Given the description of an element on the screen output the (x, y) to click on. 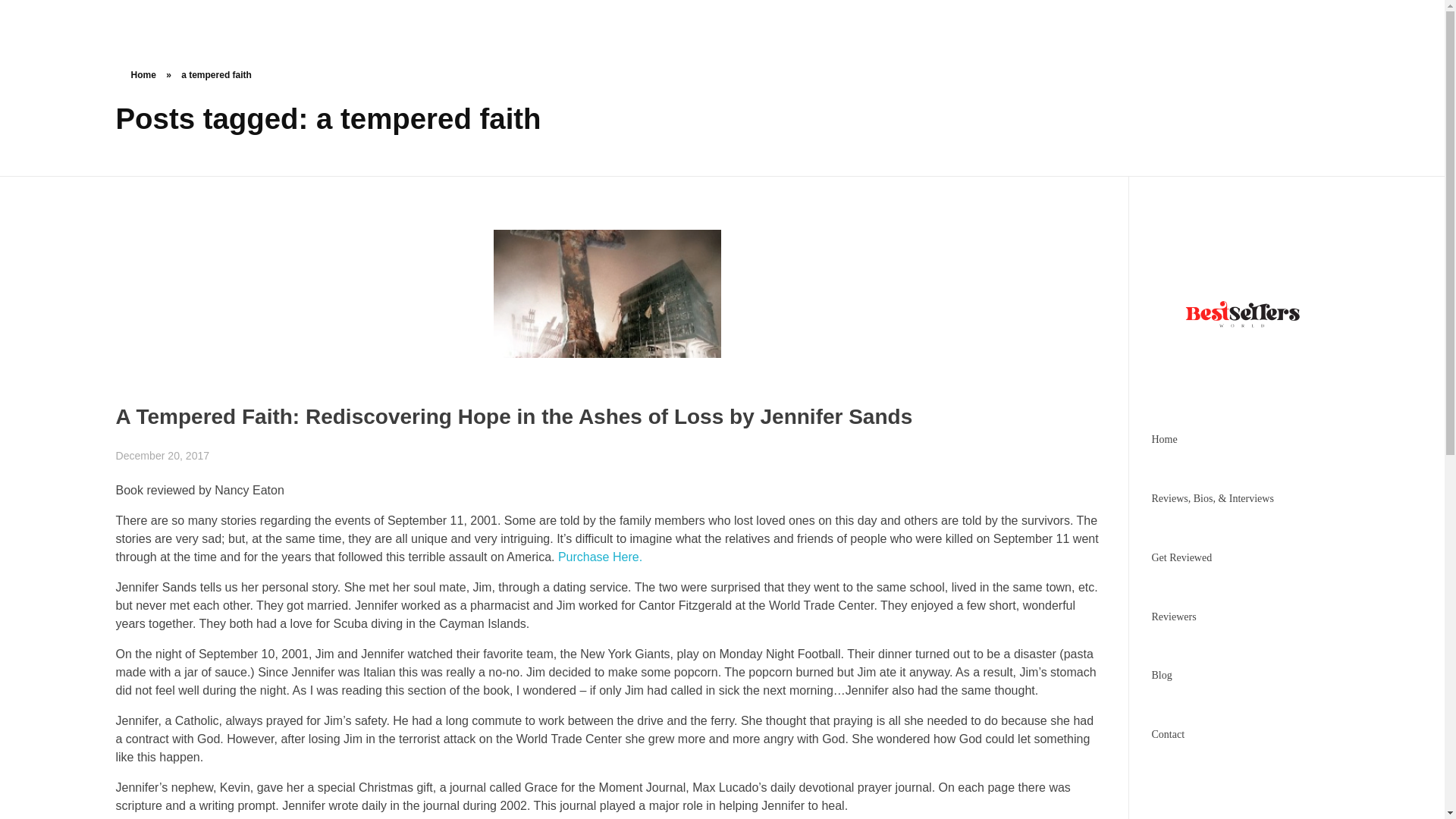
Get Reviewed (1181, 557)
Purchase Here. (599, 556)
Home (1163, 439)
Blog (1161, 674)
2017-12-20T21:31:53-05:00 (162, 455)
Contact (1168, 734)
Home (143, 74)
December 20, 2017 (162, 455)
Reviewers (1173, 616)
